Given the description of an element on the screen output the (x, y) to click on. 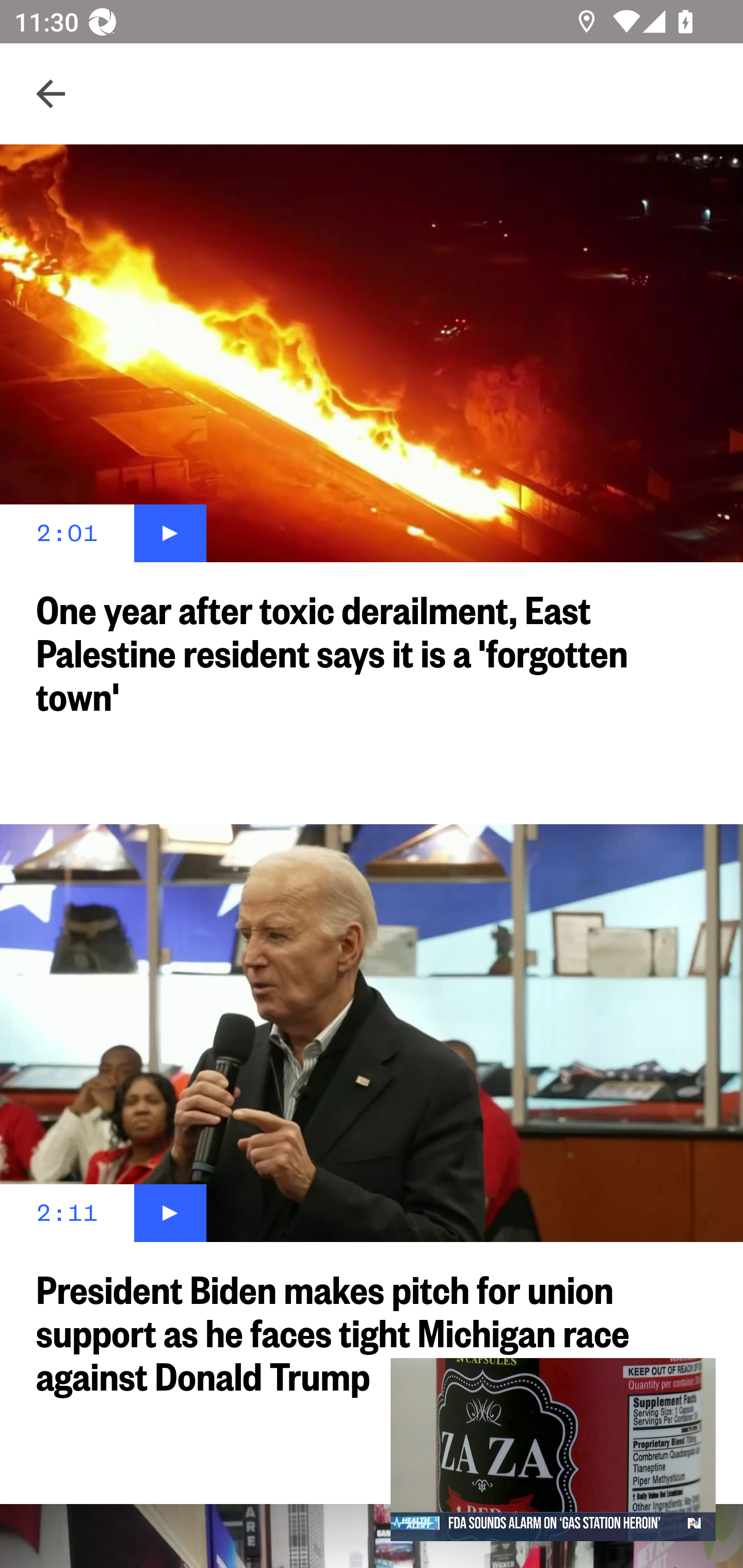
Navigate up (50, 93)
